Given the description of an element on the screen output the (x, y) to click on. 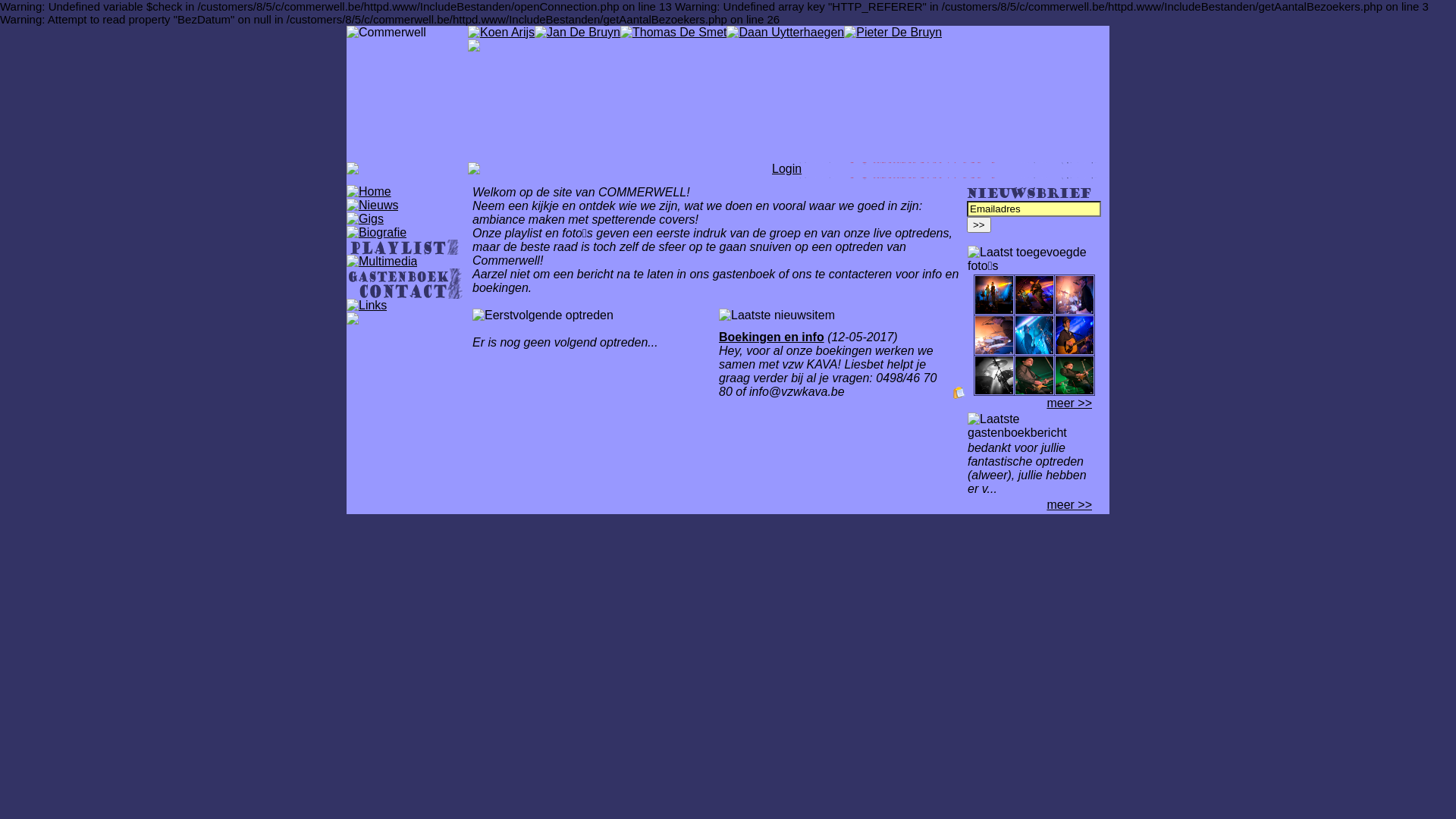
>> Element type: text (978, 224)
Login Element type: text (786, 168)
Boekingen en info Element type: text (771, 336)
meer >> Element type: text (1069, 504)
meer >> Element type: text (1069, 402)
